Given the description of an element on the screen output the (x, y) to click on. 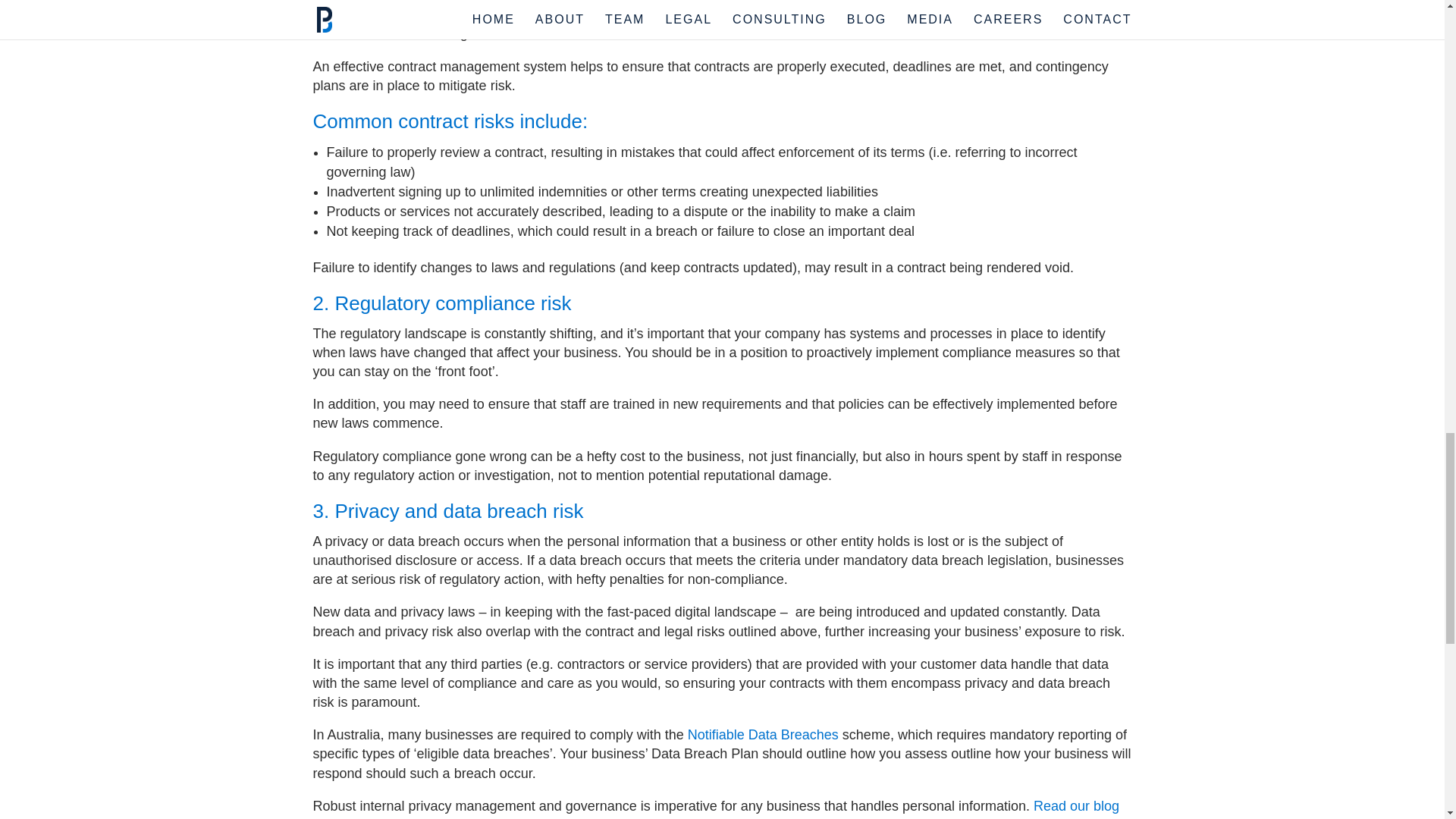
Notifiable Data Breaches (762, 734)
Read our blog (1076, 806)
